Given the description of an element on the screen output the (x, y) to click on. 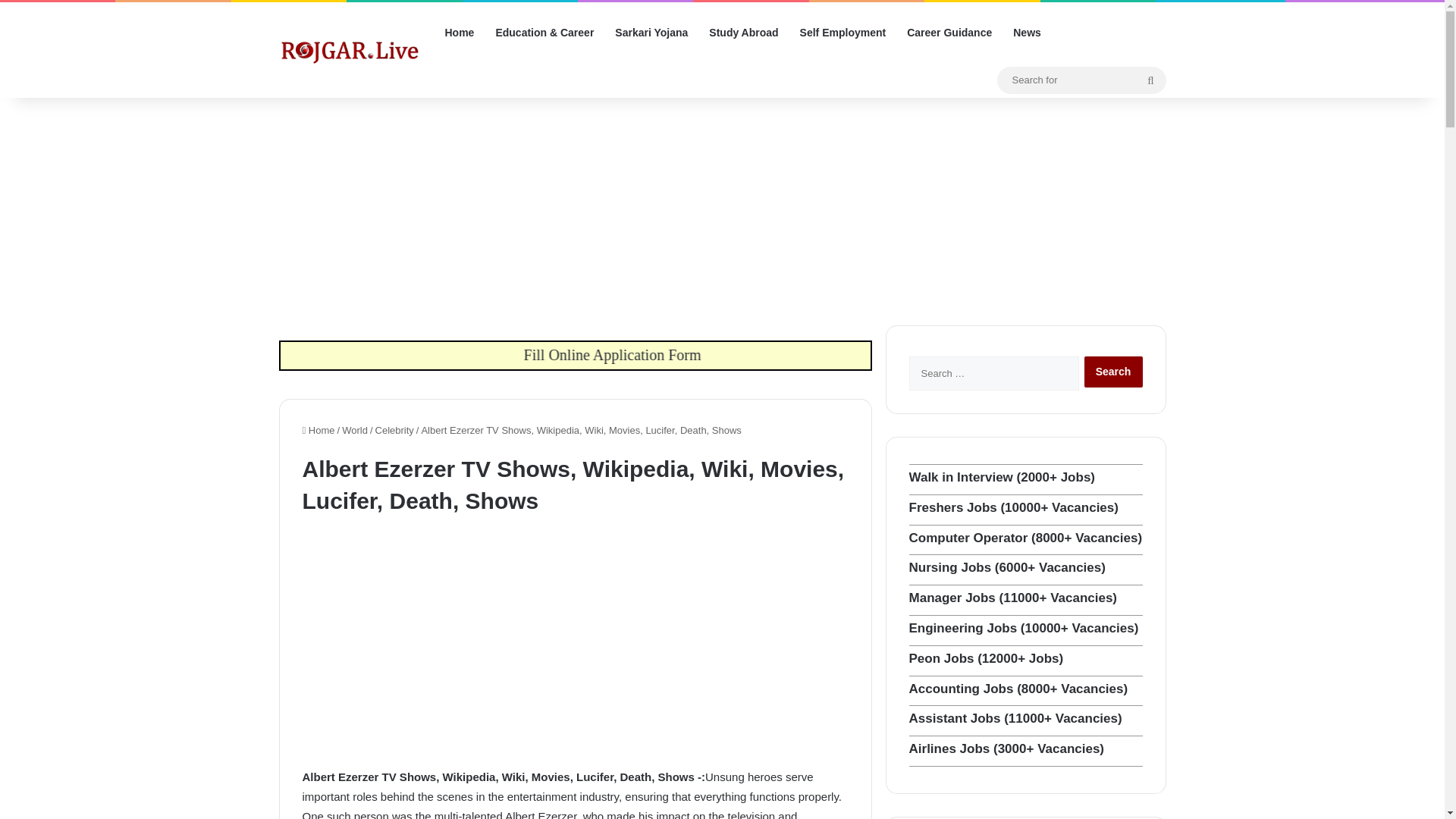
Search (1113, 371)
Search (1113, 371)
Sarkari Yojana (651, 32)
Home (317, 430)
Career Guidance (949, 32)
Fill Online Application Form (768, 353)
Self Employment (842, 32)
Celebrity (394, 430)
Study Abroad (743, 32)
Search for (1150, 80)
